Given the description of an element on the screen output the (x, y) to click on. 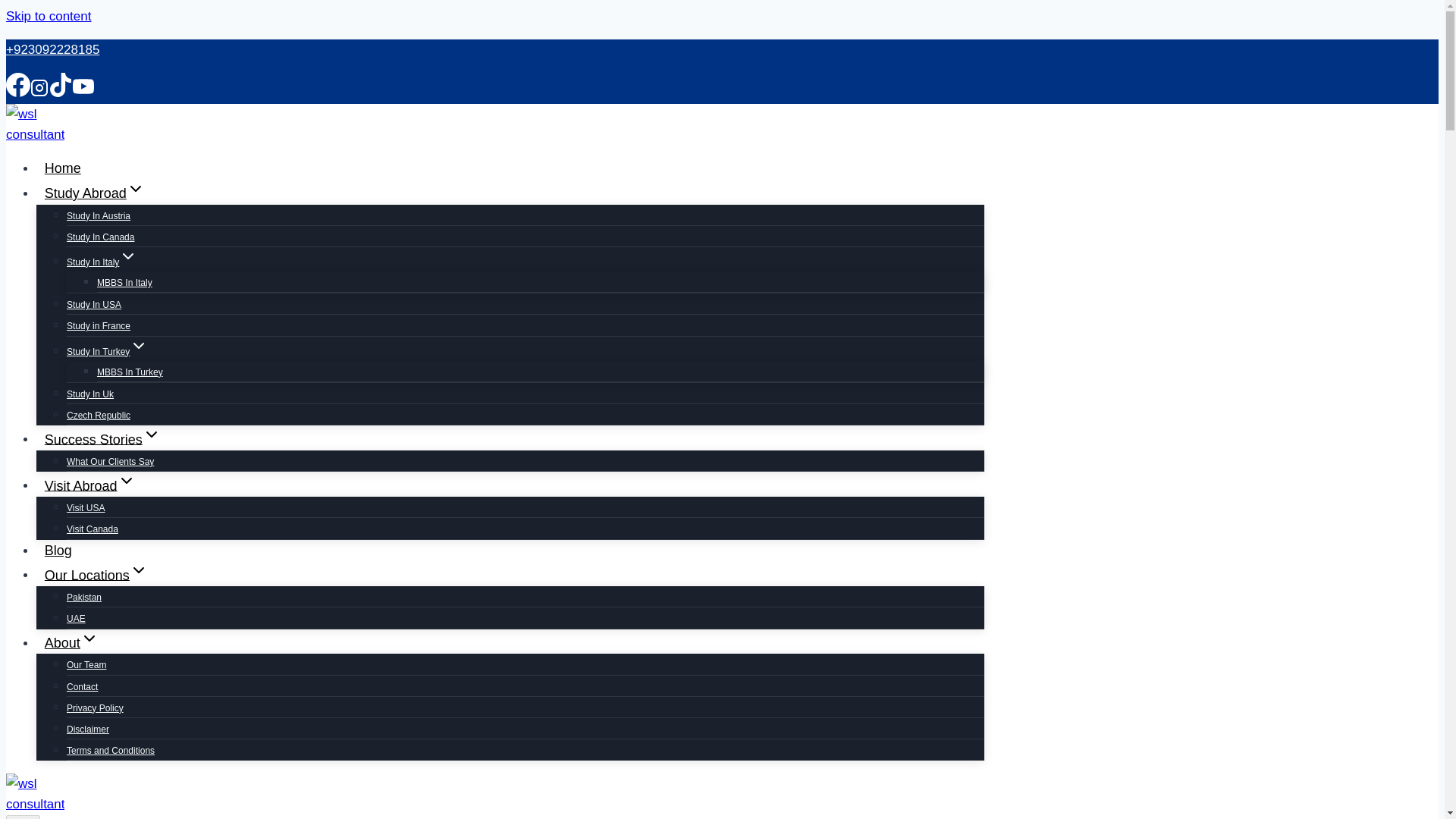
Study in France (98, 326)
TikTok (60, 84)
Visit USA (85, 507)
YouTube (83, 86)
Toggle Menu (22, 816)
Home (62, 168)
Expand (138, 345)
AboutExpand (71, 643)
Instagram (39, 92)
MBBS In Turkey (130, 371)
YouTube (83, 92)
Study In Uk (89, 394)
Study In USA (93, 304)
Study In ItalyExpand (101, 262)
Expand (127, 256)
